Given the description of an element on the screen output the (x, y) to click on. 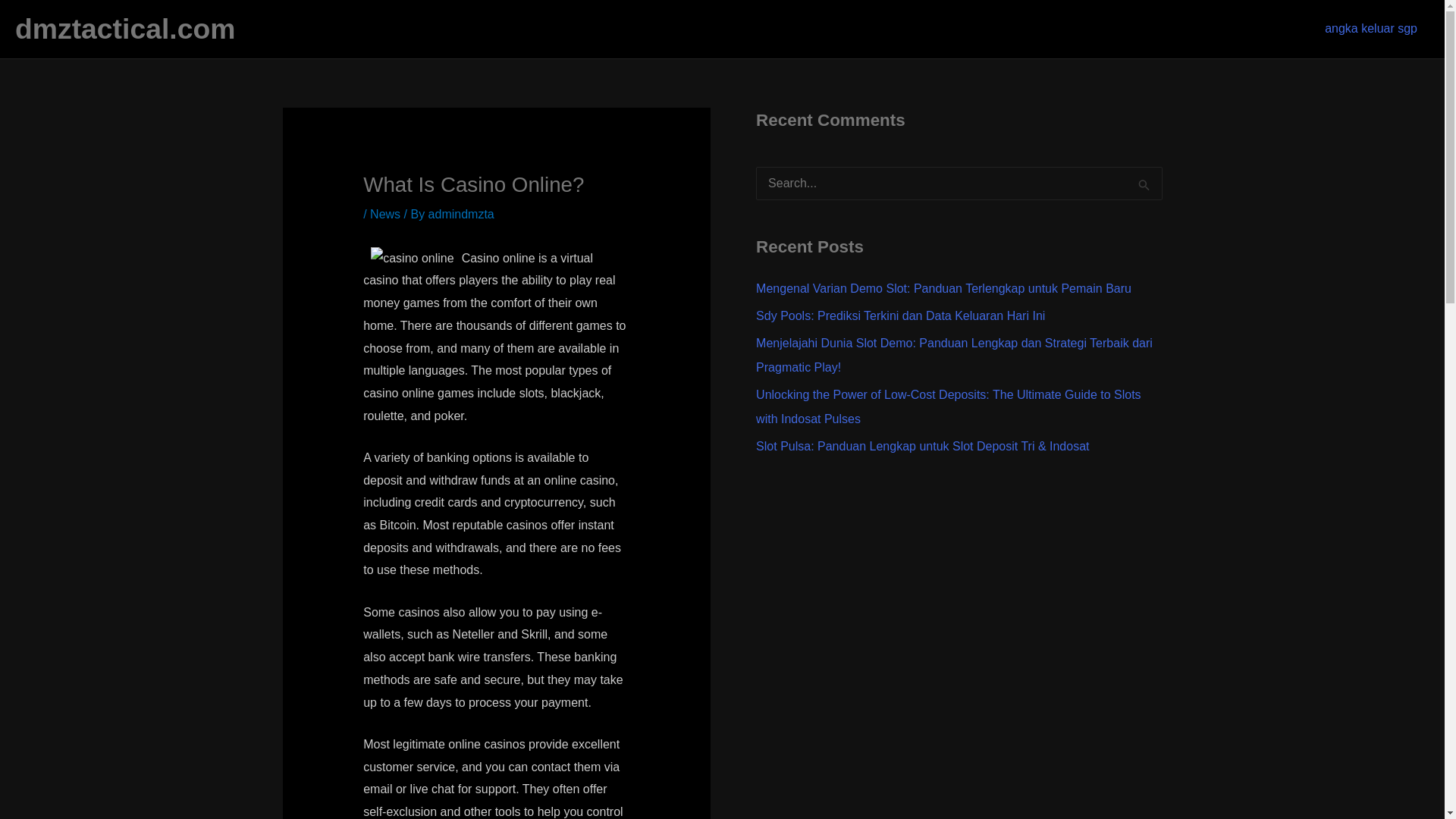
Sdy Pools: Prediksi Terkini dan Data Keluaran Hari Ini (900, 315)
angka keluar sgp (1371, 28)
admindmzta (461, 214)
dmztactical.com (124, 29)
View all posts by admindmzta (461, 214)
News (384, 214)
